Given the description of an element on the screen output the (x, y) to click on. 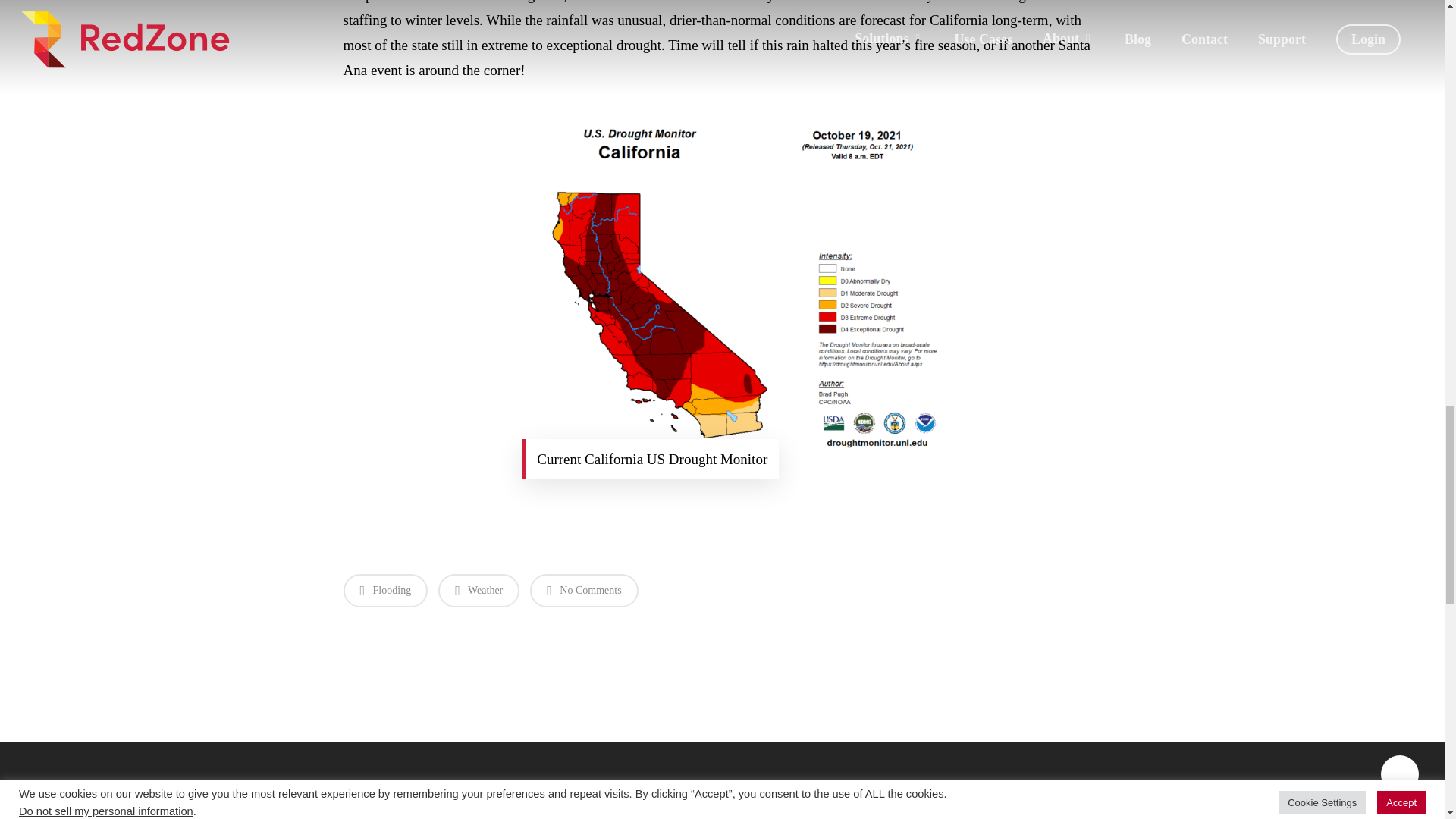
Flooding (385, 590)
No Comments (583, 590)
Weather (478, 590)
